Given the description of an element on the screen output the (x, y) to click on. 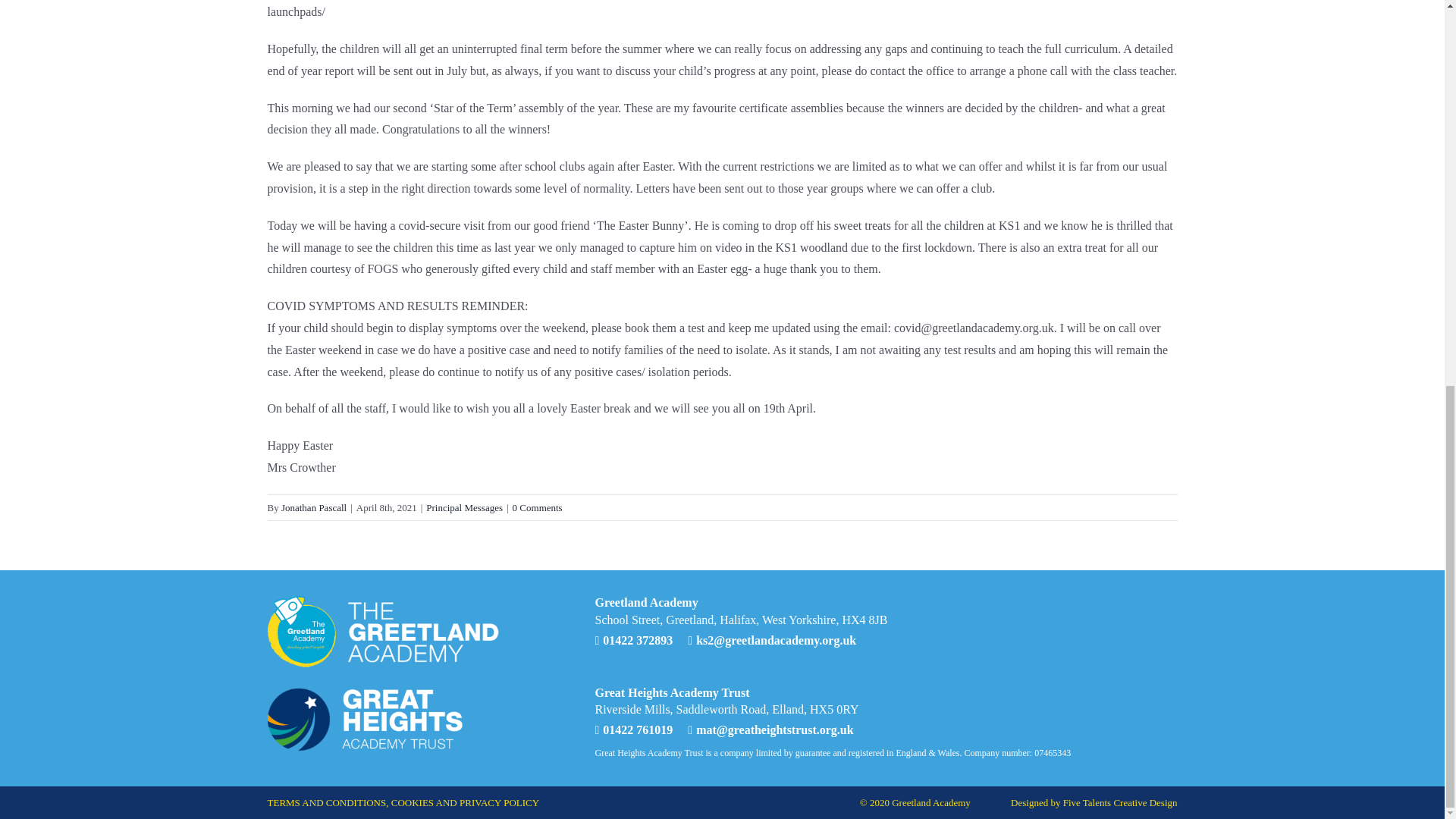
WVA-WHITE-LOGO (382, 631)
GA-WHITE-LOGO (365, 717)
Posts by Jonathan Pascall (313, 507)
